Given the description of an element on the screen output the (x, y) to click on. 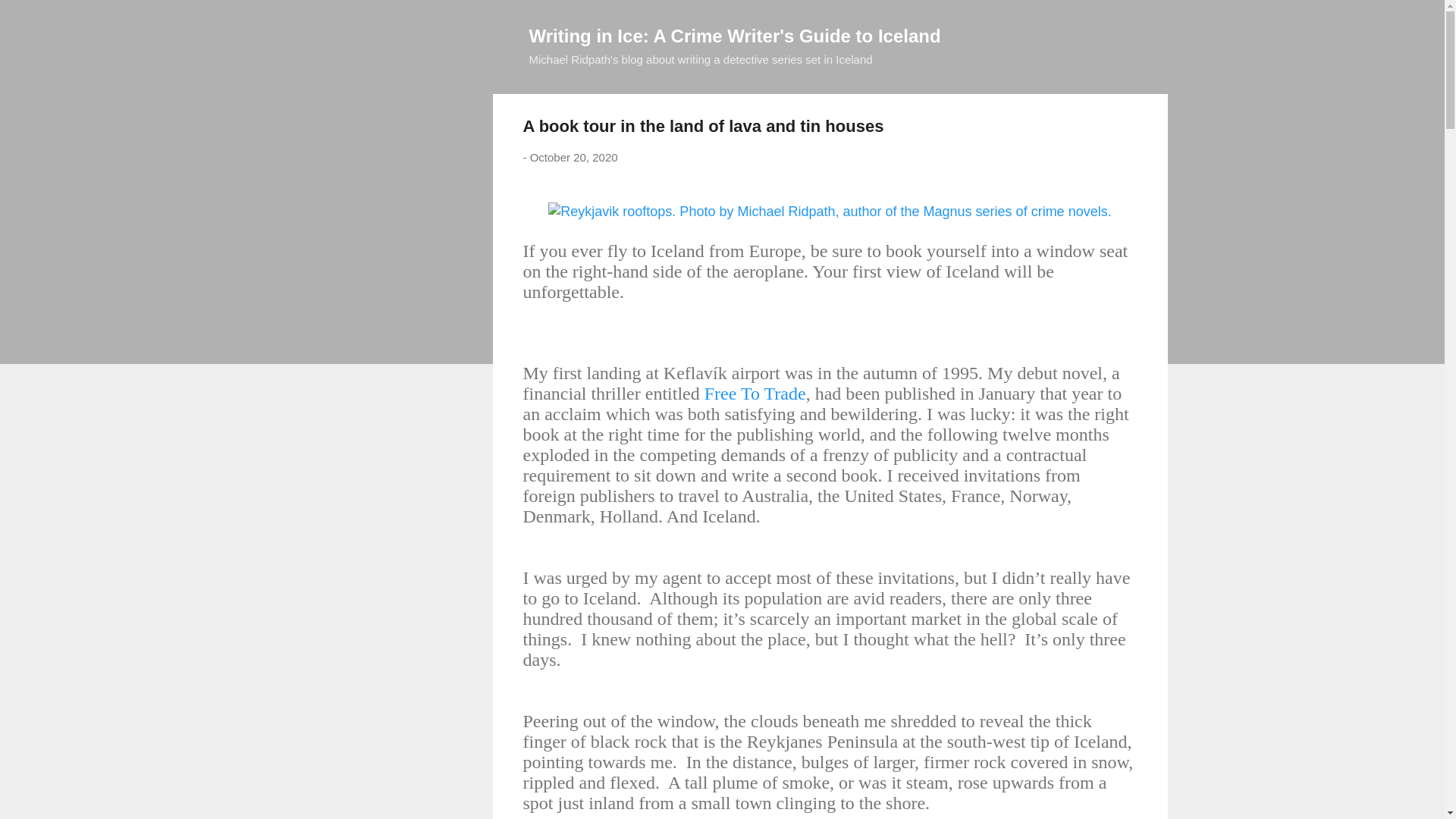
Writing in Ice: A Crime Writer's Guide to Iceland (734, 35)
permanent link (573, 156)
October 20, 2020 (573, 156)
Free To Trade (755, 393)
Search (29, 18)
